Given the description of an element on the screen output the (x, y) to click on. 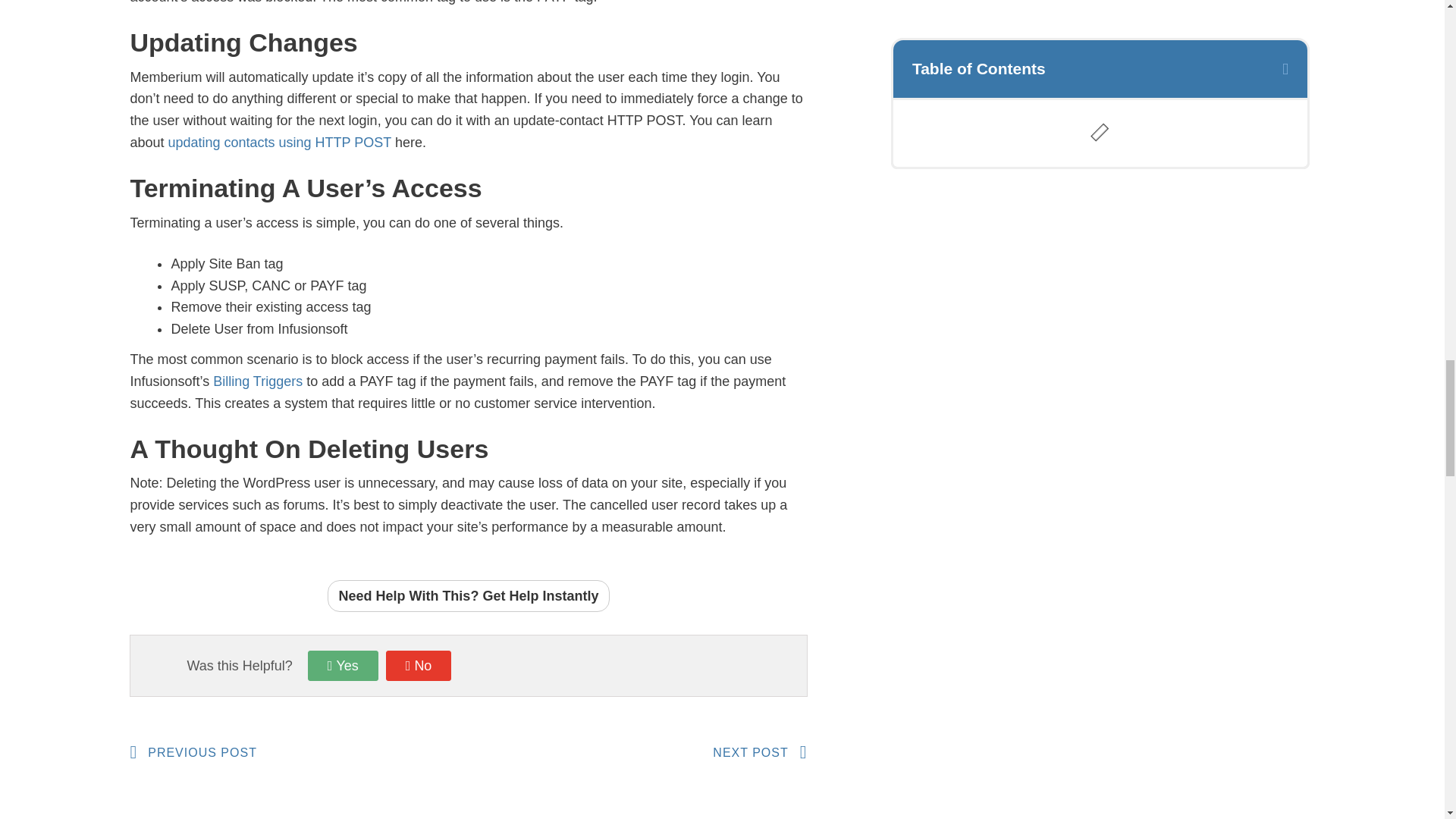
Billing Triggers (298, 753)
Need Help With This? Get Help Instantly (257, 381)
No (468, 595)
Yes (418, 665)
updating contacts using HTTP POST (636, 753)
